Given the description of an element on the screen output the (x, y) to click on. 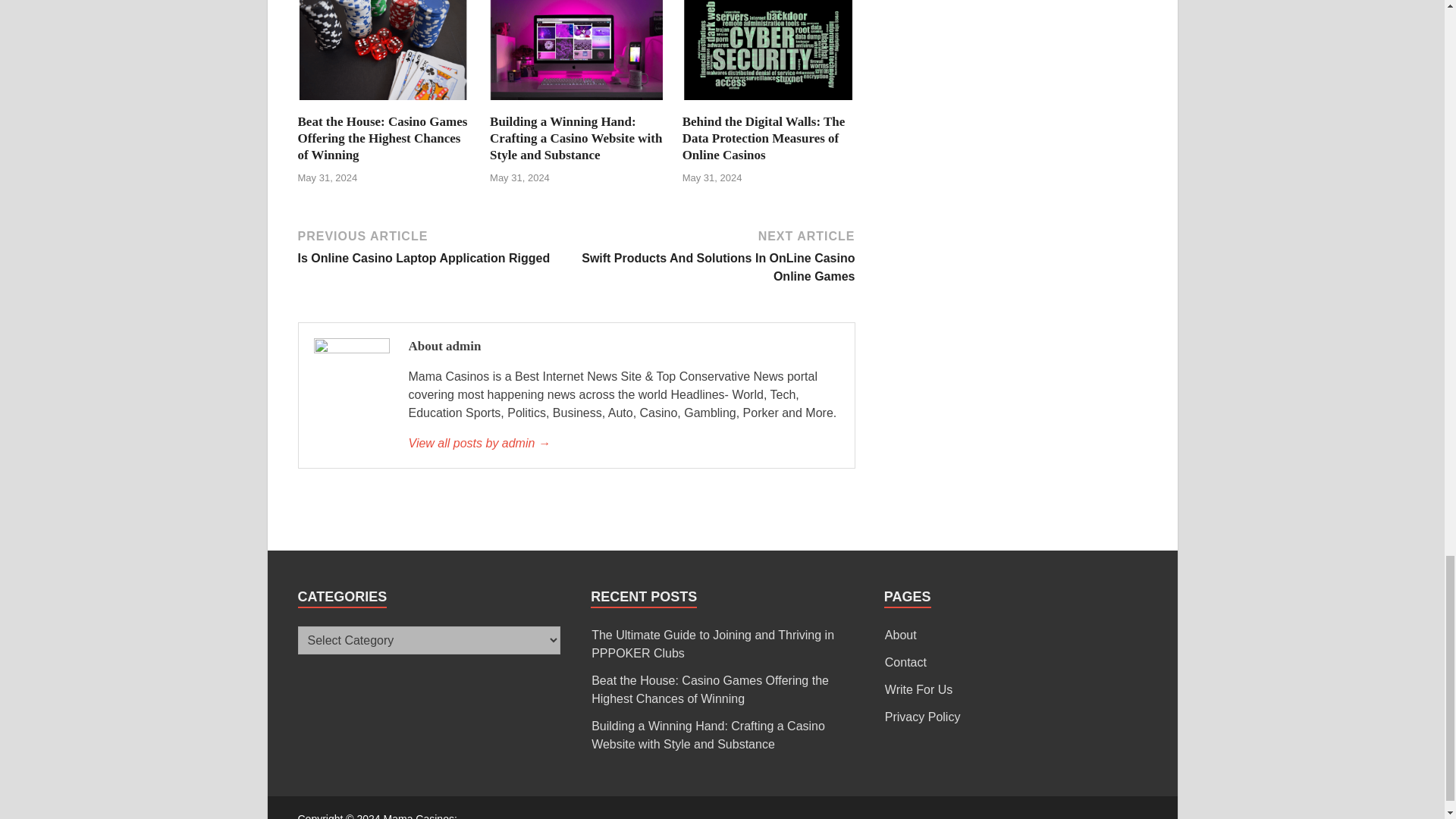
admin (622, 443)
